Given the description of an element on the screen output the (x, y) to click on. 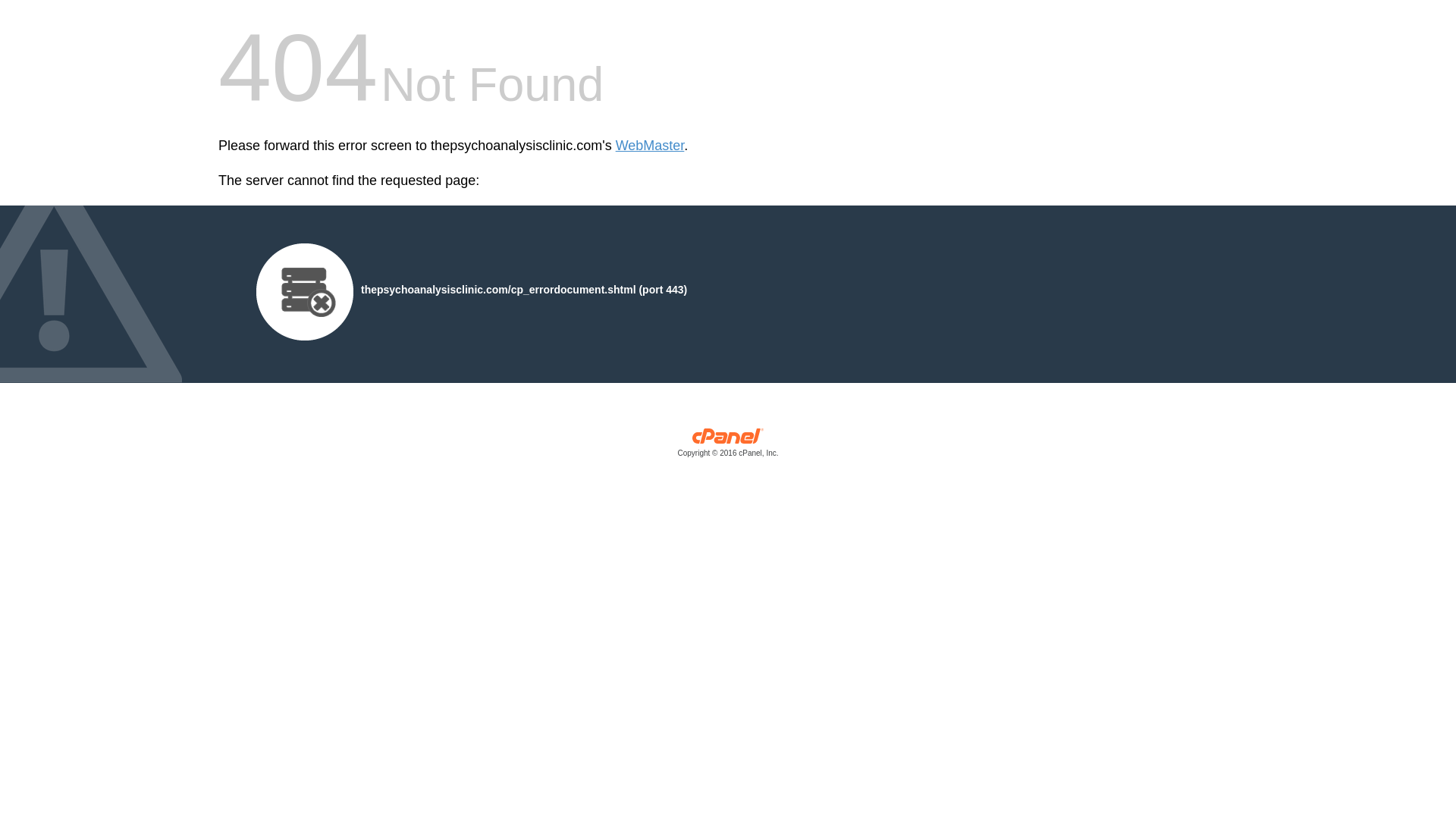
WebMaster (649, 145)
cPanel, Inc. (727, 446)
